Given the description of an element on the screen output the (x, y) to click on. 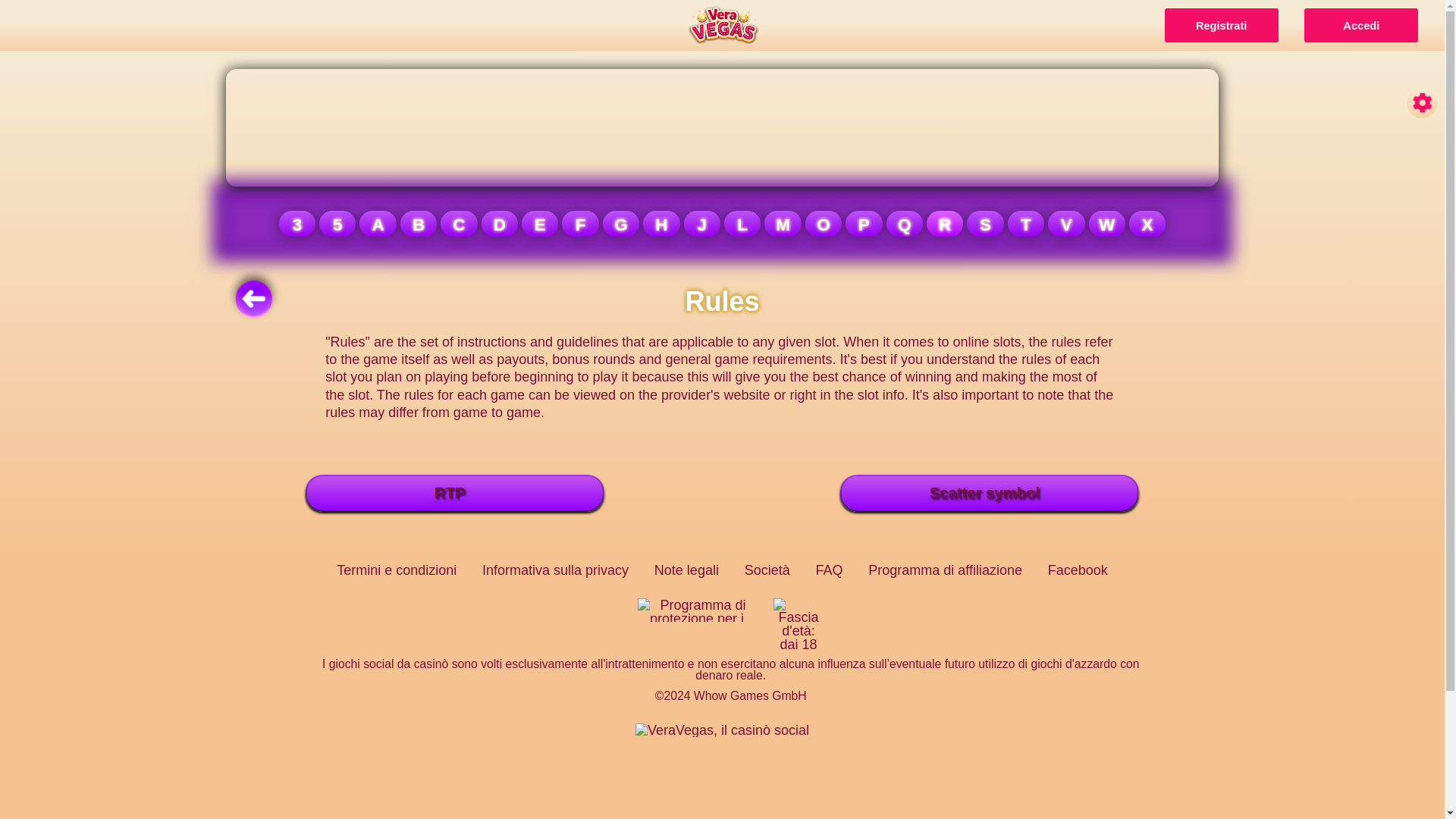
Accedi (1361, 25)
Registrati (1221, 25)
